Given the description of an element on the screen output the (x, y) to click on. 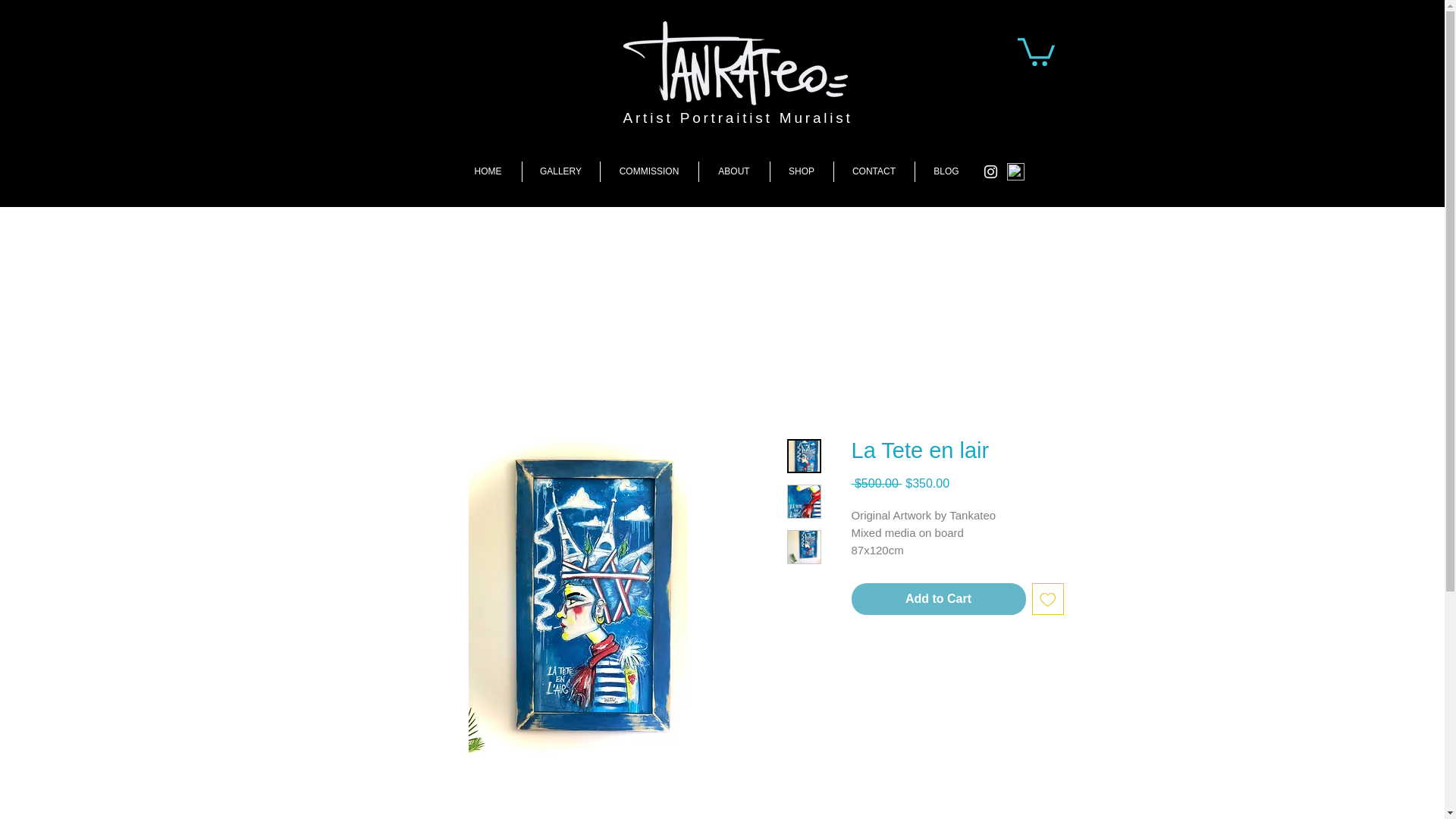
BLOG (945, 171)
ABOUT (734, 171)
GALLERY (559, 171)
CONTACT (874, 171)
Add to Cart (937, 599)
HOME (487, 171)
